Given the description of an element on the screen output the (x, y) to click on. 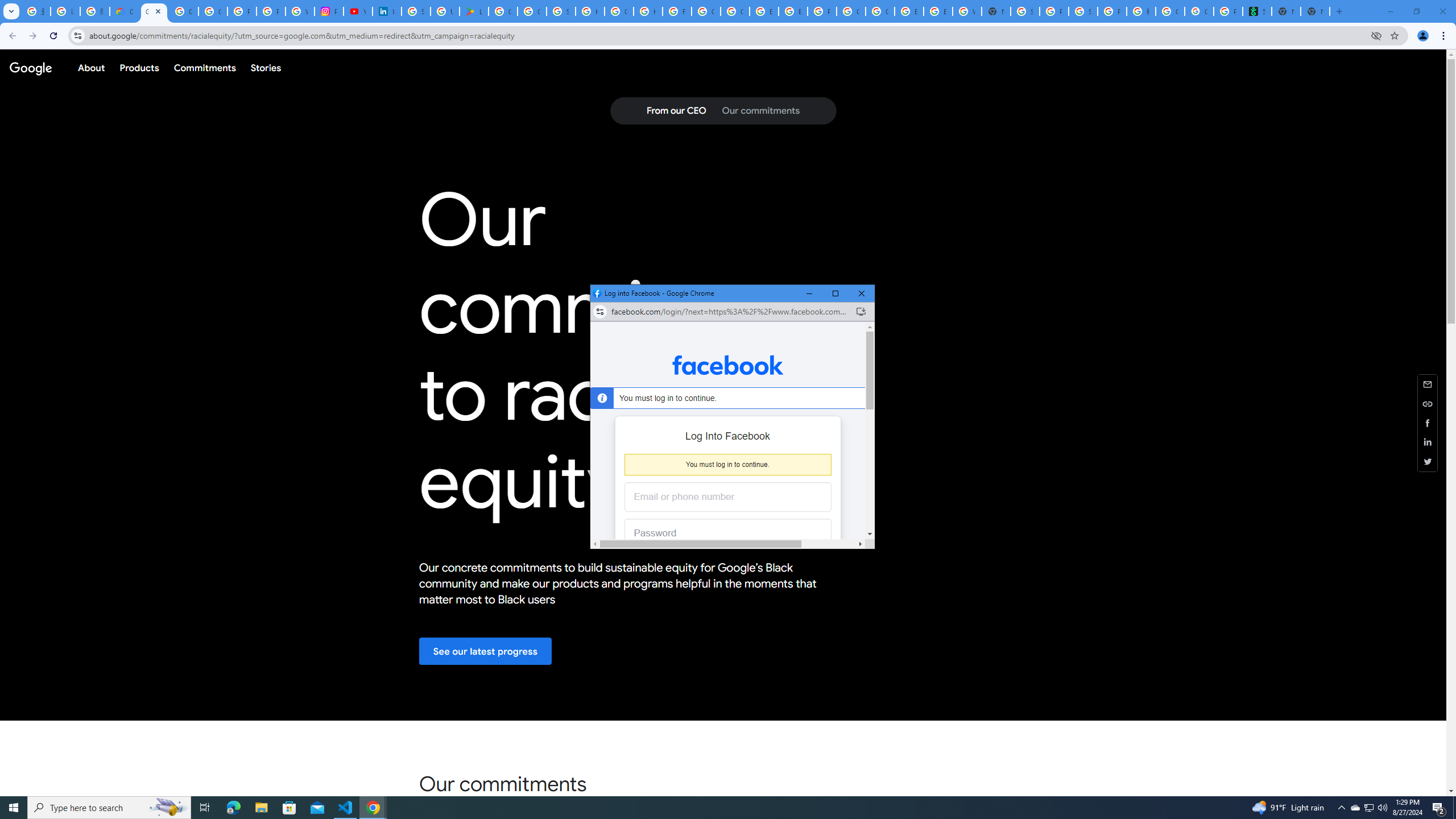
Google Chrome - 3 running windows (373, 807)
Commitments (204, 67)
Share this page (Twitter) (1427, 461)
Microsoft Store (289, 807)
Privacy Help Center - Policies Help (271, 11)
Browse Chrome as a guest - Computer - Google Chrome Help (908, 11)
Email or phone number (1368, 807)
Start (727, 497)
